Given the description of an element on the screen output the (x, y) to click on. 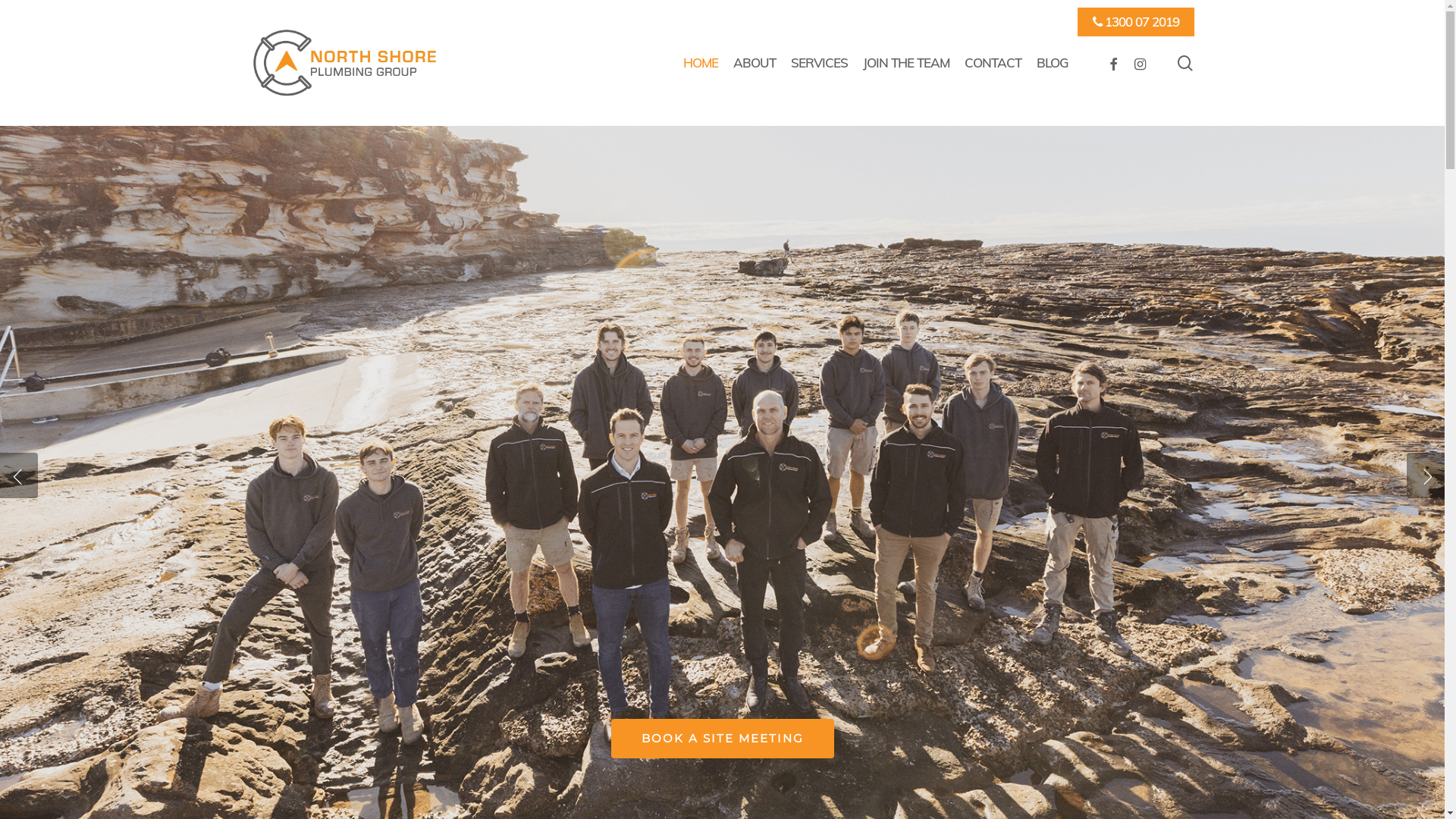
SERVICES Element type: text (819, 62)
BOOK A SITE MEETING Element type: text (722, 738)
CONTACT Element type: text (993, 62)
BLOG Element type: text (1052, 62)
1300 07 2019 Element type: text (1135, 21)
HOME Element type: text (700, 62)
JOIN THE TEAM Element type: text (906, 62)
facebook Element type: text (1112, 62)
instagram Element type: text (1139, 62)
search Element type: text (1185, 62)
ABOUT Element type: text (754, 62)
